Given the description of an element on the screen output the (x, y) to click on. 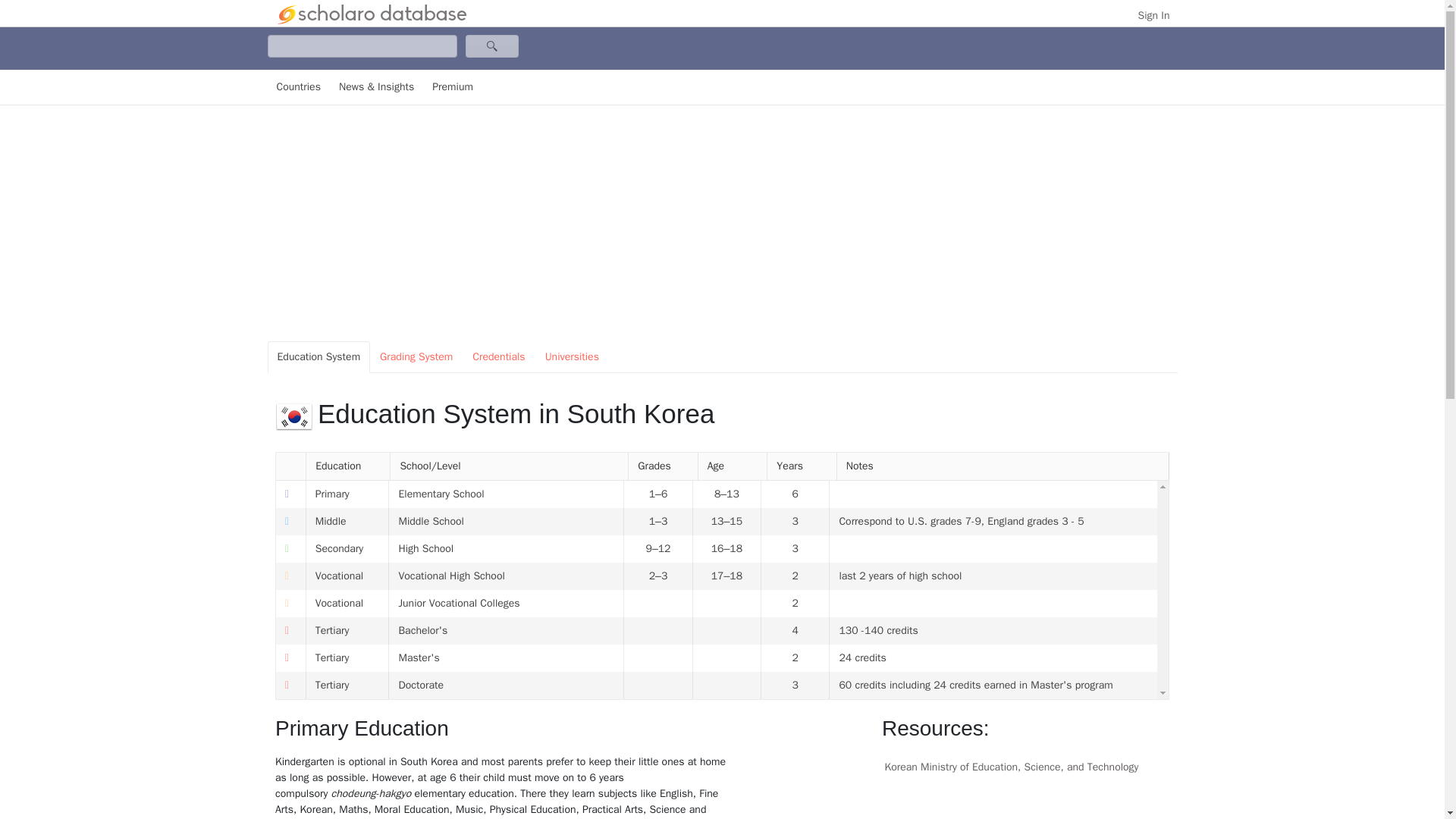
Credentials (498, 357)
Grading System (416, 357)
Countries (297, 87)
Korean Ministry of Education, Science, and Technology (1024, 766)
Premium (452, 87)
Sign In (1154, 15)
Universities (571, 357)
Education System (318, 357)
